Given the description of an element on the screen output the (x, y) to click on. 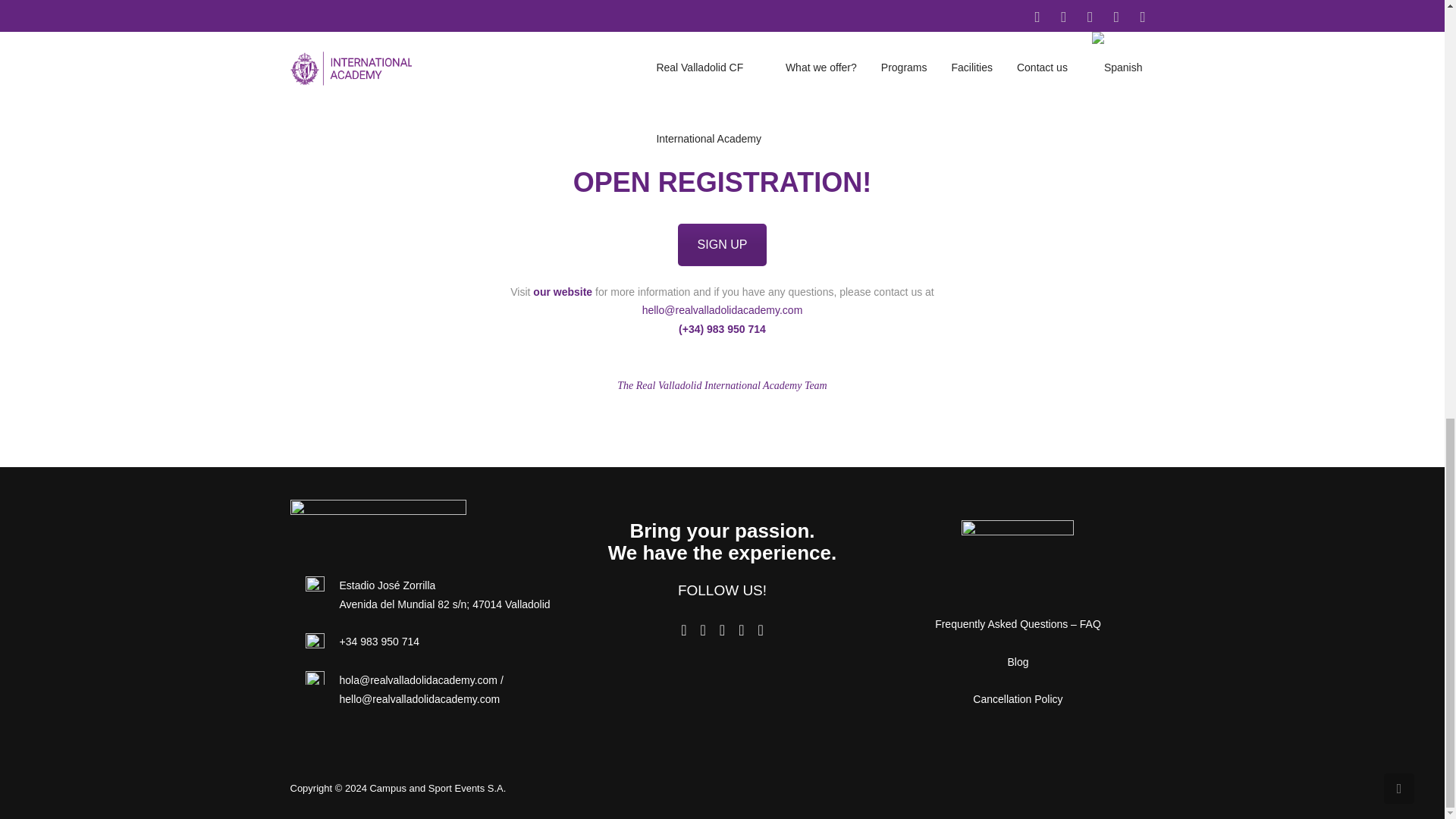
Admissions (722, 244)
